Given the description of an element on the screen output the (x, y) to click on. 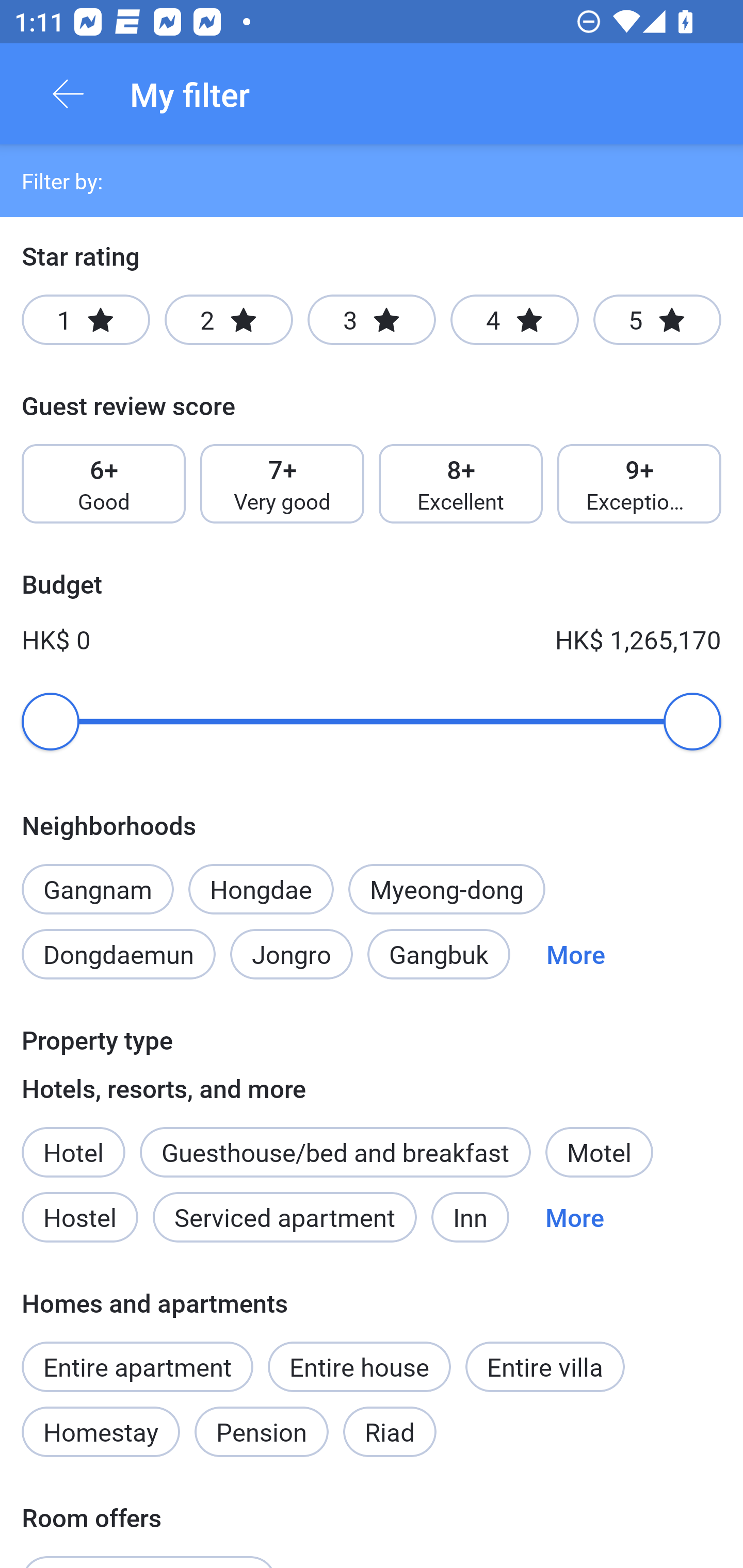
1 (85, 319)
2 (228, 319)
3 (371, 319)
4 (514, 319)
5 (657, 319)
6+ Good (103, 483)
7+ Very good (281, 483)
8+ Excellent (460, 483)
9+ Exceptional (639, 483)
Gangnam (97, 878)
Hongdae (260, 888)
Myeong-dong (446, 888)
Dongdaemun (118, 954)
Jongro (291, 954)
Gangbuk (438, 954)
More (575, 954)
Hotel (73, 1141)
Guesthouse/bed and breakfast (335, 1151)
Motel (599, 1151)
Hostel (79, 1217)
Serviced apartment (284, 1217)
Inn (470, 1217)
More (574, 1217)
Entire apartment (137, 1366)
Entire house (359, 1366)
Entire villa (544, 1366)
Homestay (100, 1432)
Pension (261, 1432)
Riad (389, 1432)
